Given the description of an element on the screen output the (x, y) to click on. 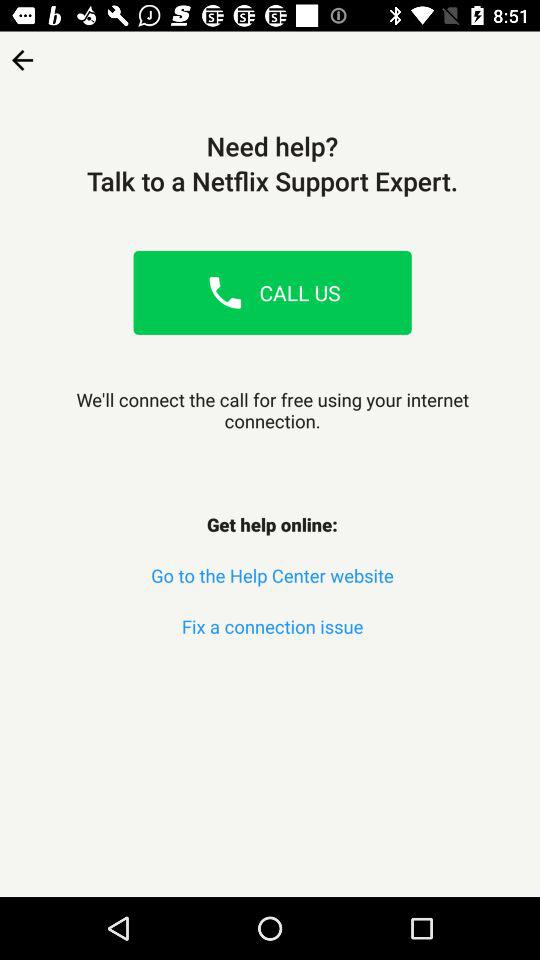
go back (22, 53)
